Given the description of an element on the screen output the (x, y) to click on. 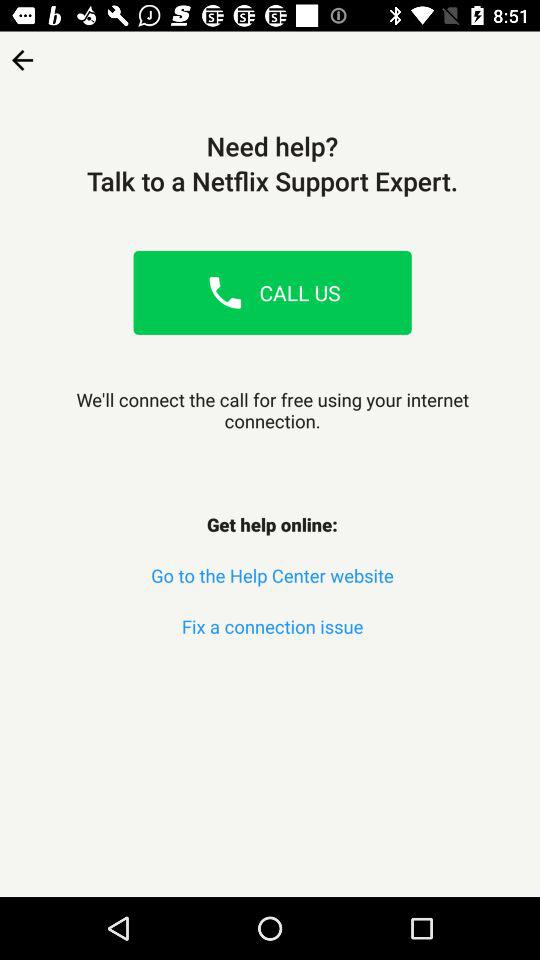
go back (22, 53)
